Given the description of an element on the screen output the (x, y) to click on. 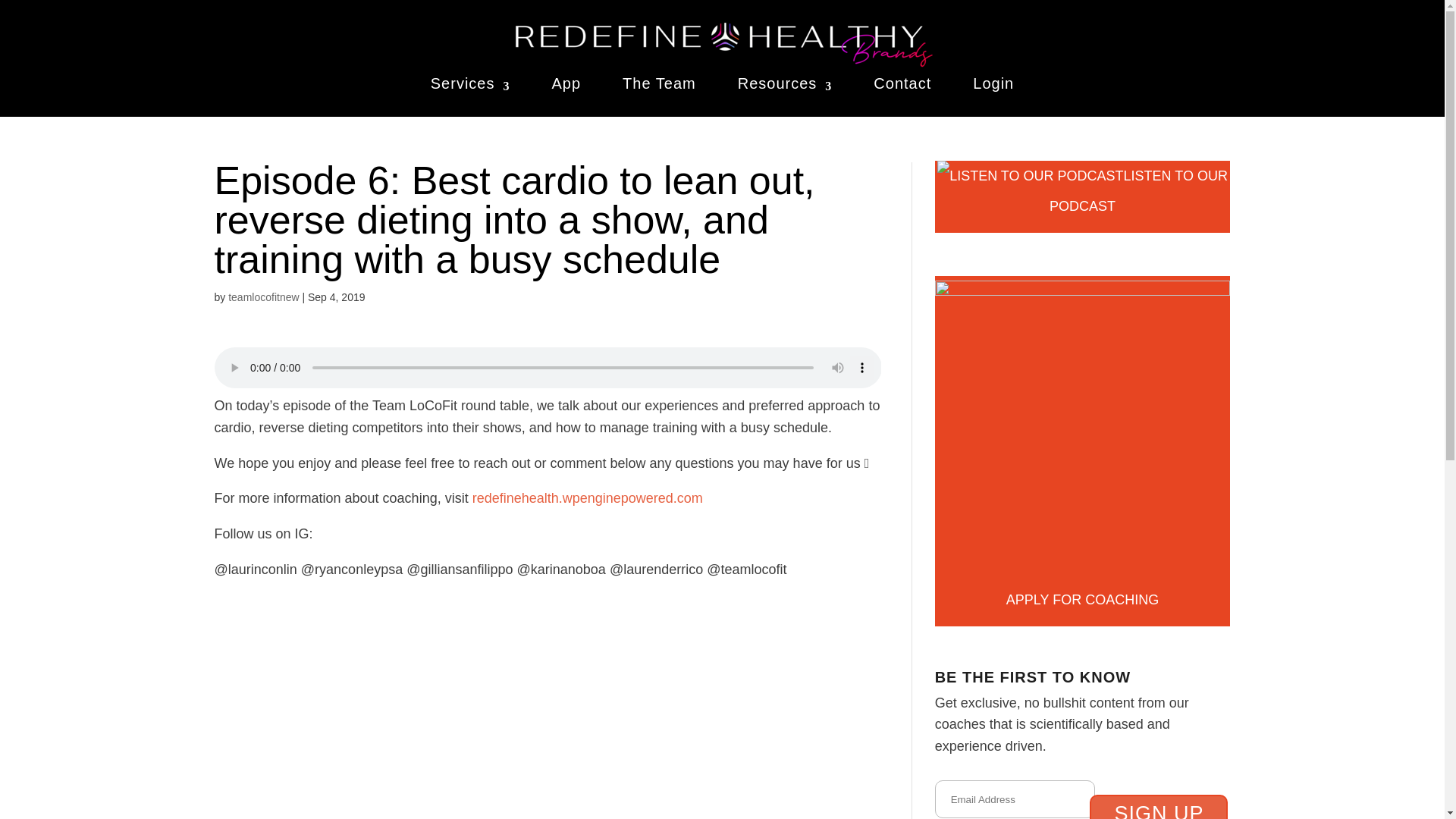
Resources (785, 86)
Services (470, 86)
Posts by teamlocofitnew (263, 297)
Sign up (1158, 806)
teamlocofitnew (263, 297)
App (565, 86)
redefinehealth.wpenginepowered.com (587, 498)
Contact (902, 86)
LISTEN TO OUR PODCAST (1082, 196)
The Team (659, 86)
